Given the description of an element on the screen output the (x, y) to click on. 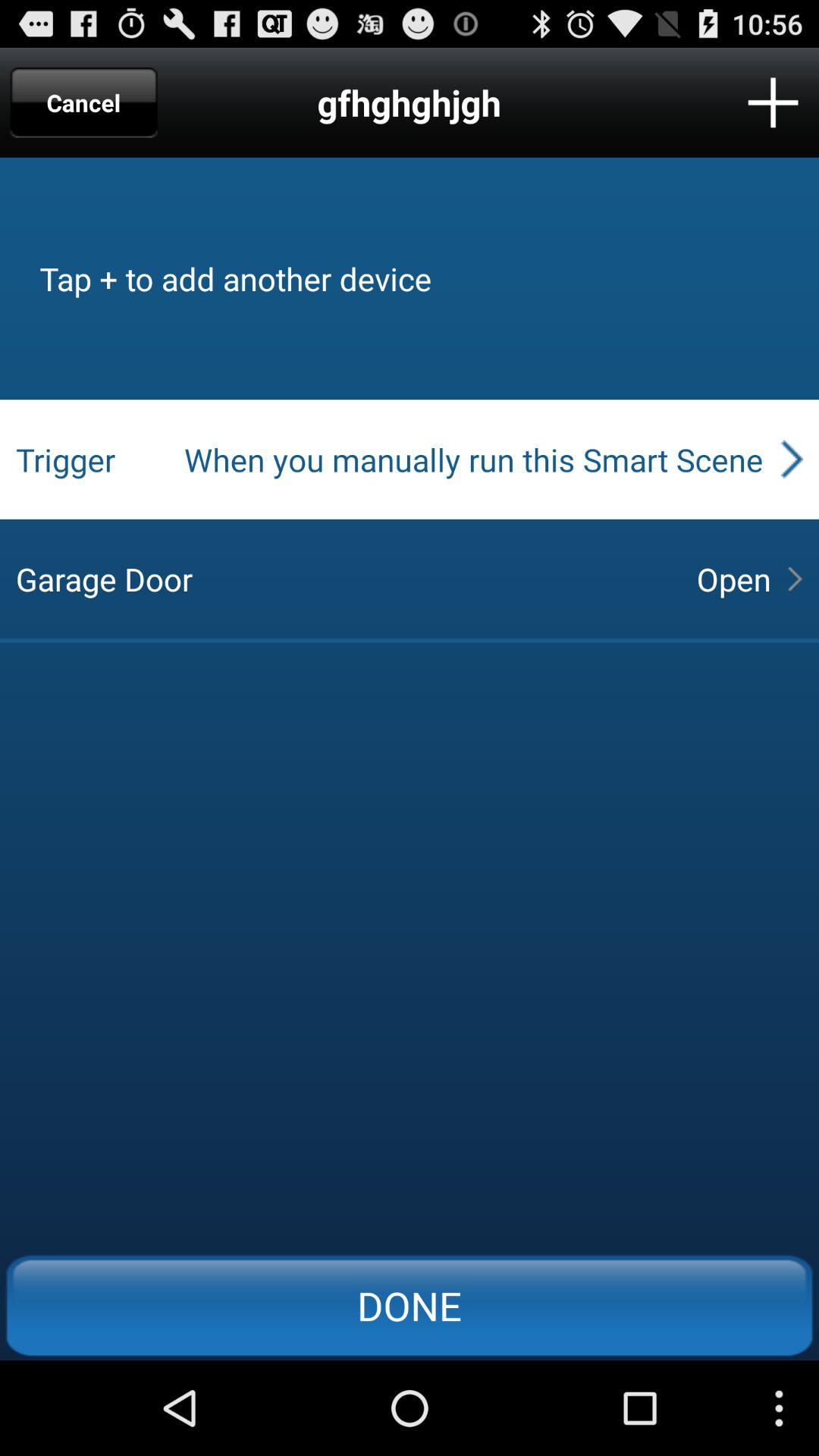
turn off app next to open icon (342, 578)
